Given the description of an element on the screen output the (x, y) to click on. 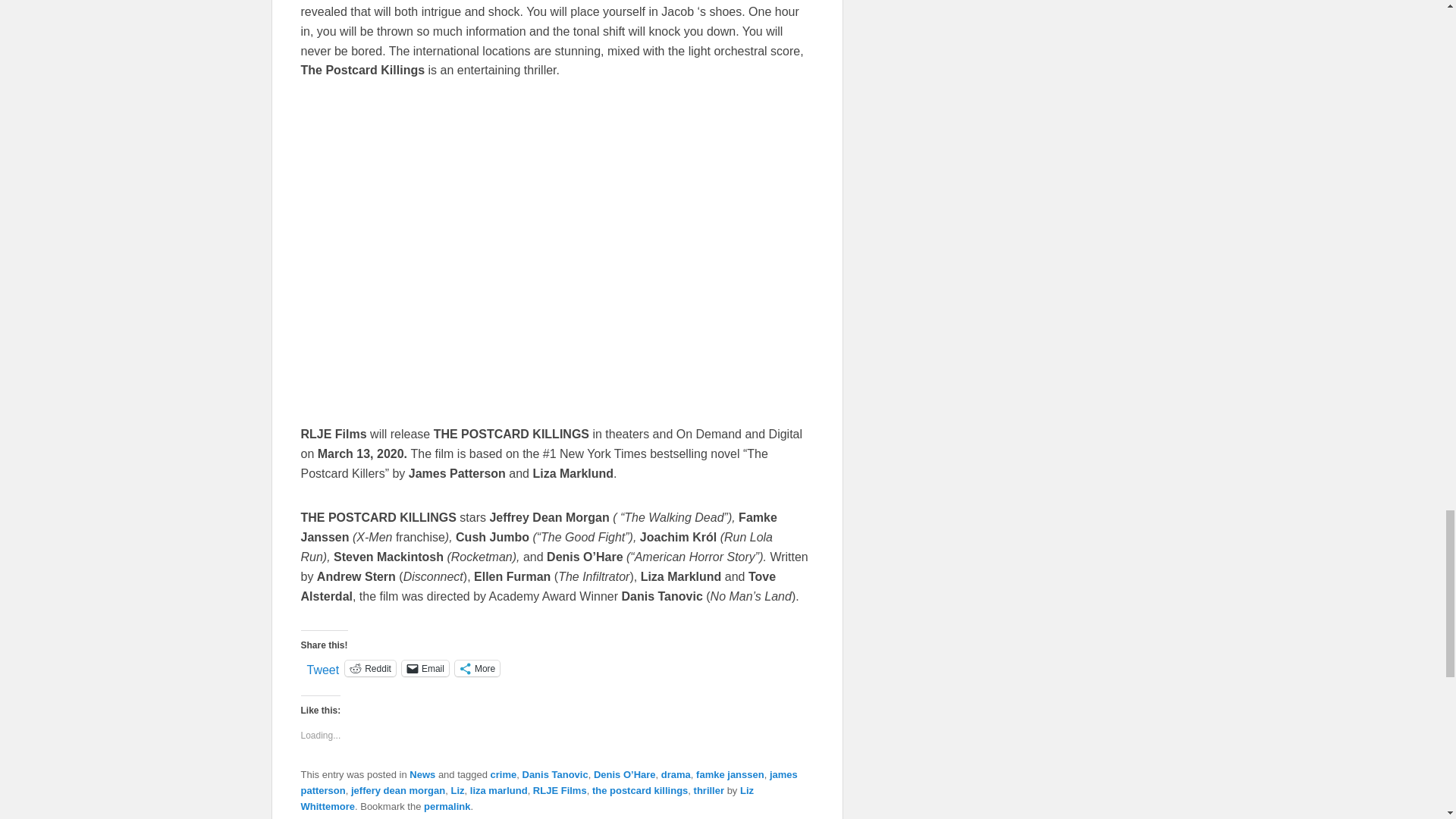
News (422, 774)
Click to email a link to a friend (424, 668)
jeffery dean morgan (397, 790)
Tweet (322, 667)
Danis Tanovic (554, 774)
james patterson (547, 782)
drama (675, 774)
Click to share on Reddit (370, 668)
More (476, 668)
Email (424, 668)
